Given the description of an element on the screen output the (x, y) to click on. 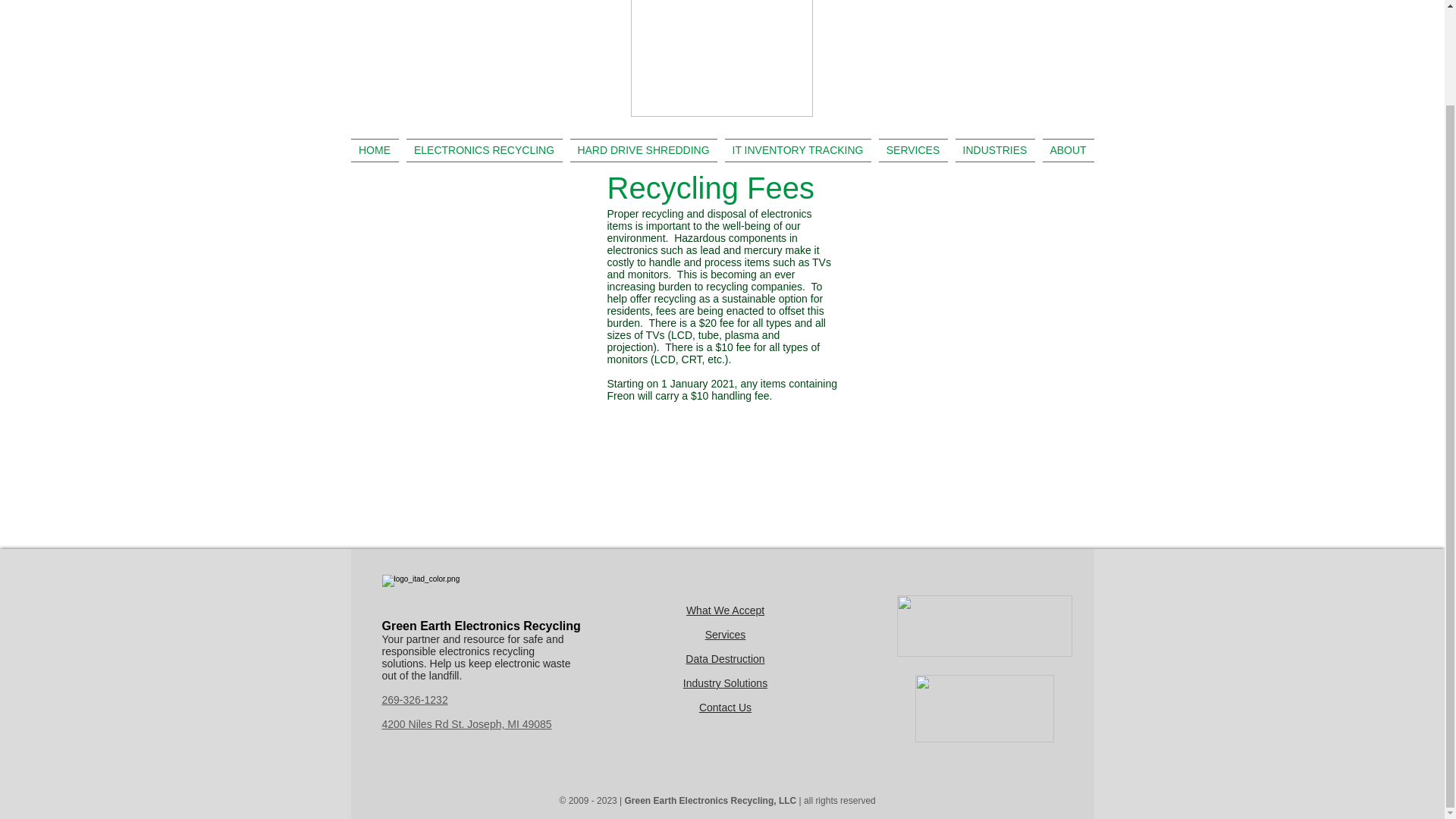
Industry Solutions (724, 683)
ELECTRONICS RECYCLING (483, 150)
HARD DRIVE SHREDDING (643, 150)
ABOUT (1066, 150)
What We Accept (724, 610)
4200 Niles Rd St. Joseph, MI 49085 (466, 724)
INDUSTRIES (994, 150)
SERVICES (913, 150)
Services (724, 634)
HOME (375, 150)
IT INVENTORY TRACKING (797, 150)
Data Destruction (724, 658)
269-326-1232 (414, 699)
